Given the description of an element on the screen output the (x, y) to click on. 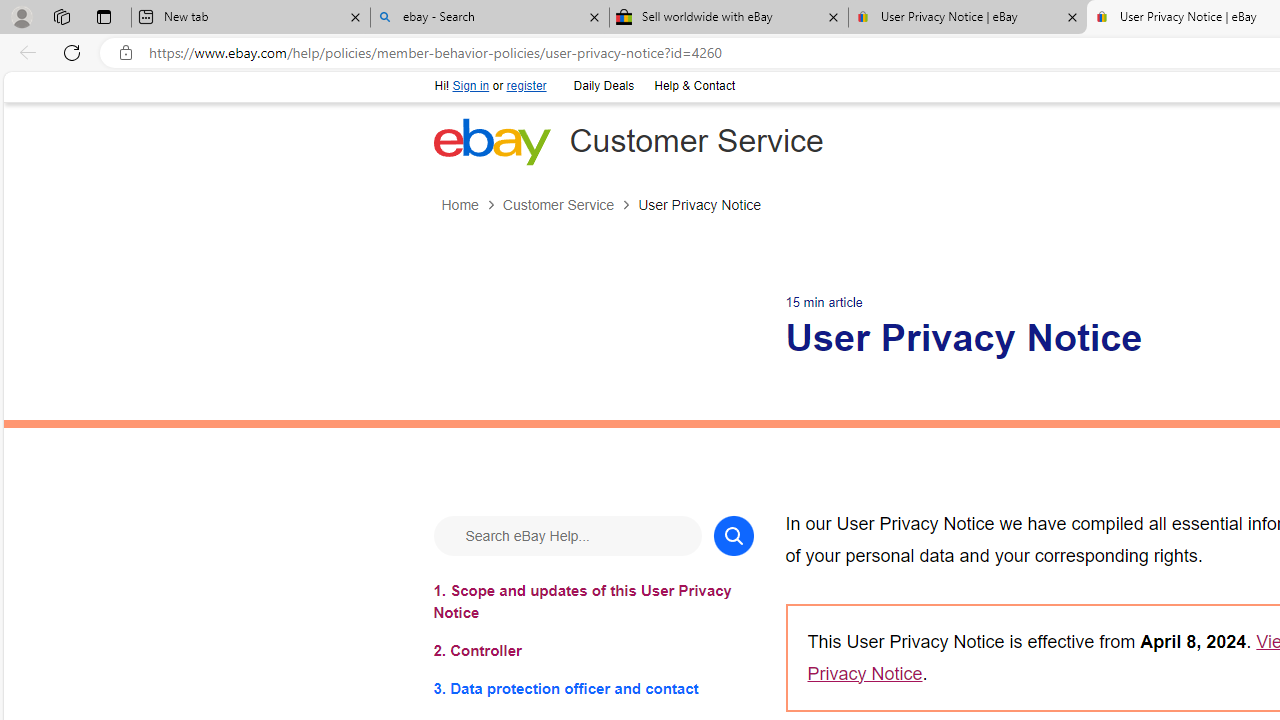
Help & Contact (694, 86)
Customer Service (557, 205)
2. Controller (592, 650)
2. Controller (592, 650)
User Privacy Notice (699, 205)
Sell worldwide with eBay (729, 17)
Daily Deals (603, 86)
Sign in (470, 85)
Customer Service (569, 205)
